Given the description of an element on the screen output the (x, y) to click on. 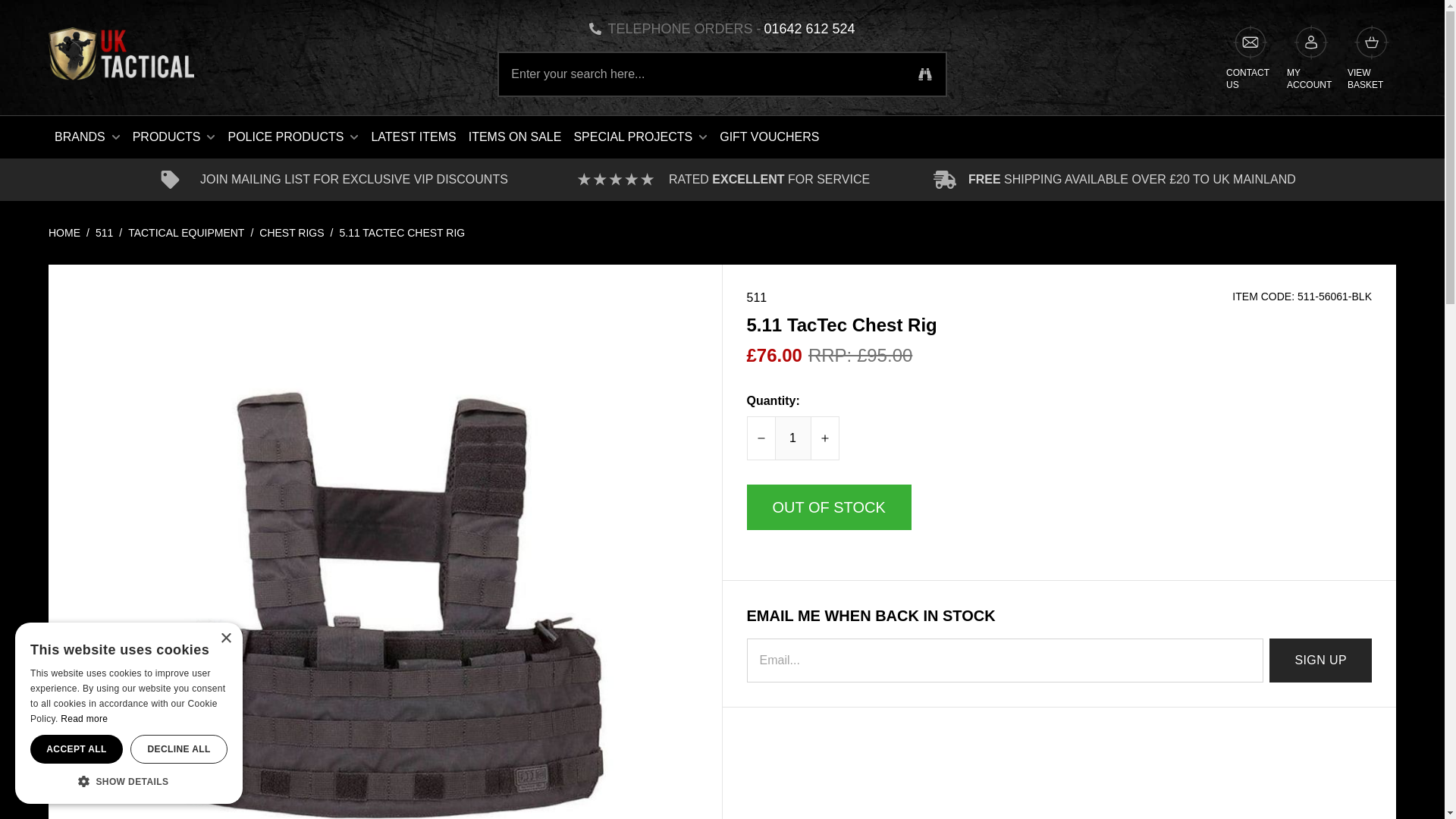
PayPal Message 1 (1058, 549)
